Given the description of an element on the screen output the (x, y) to click on. 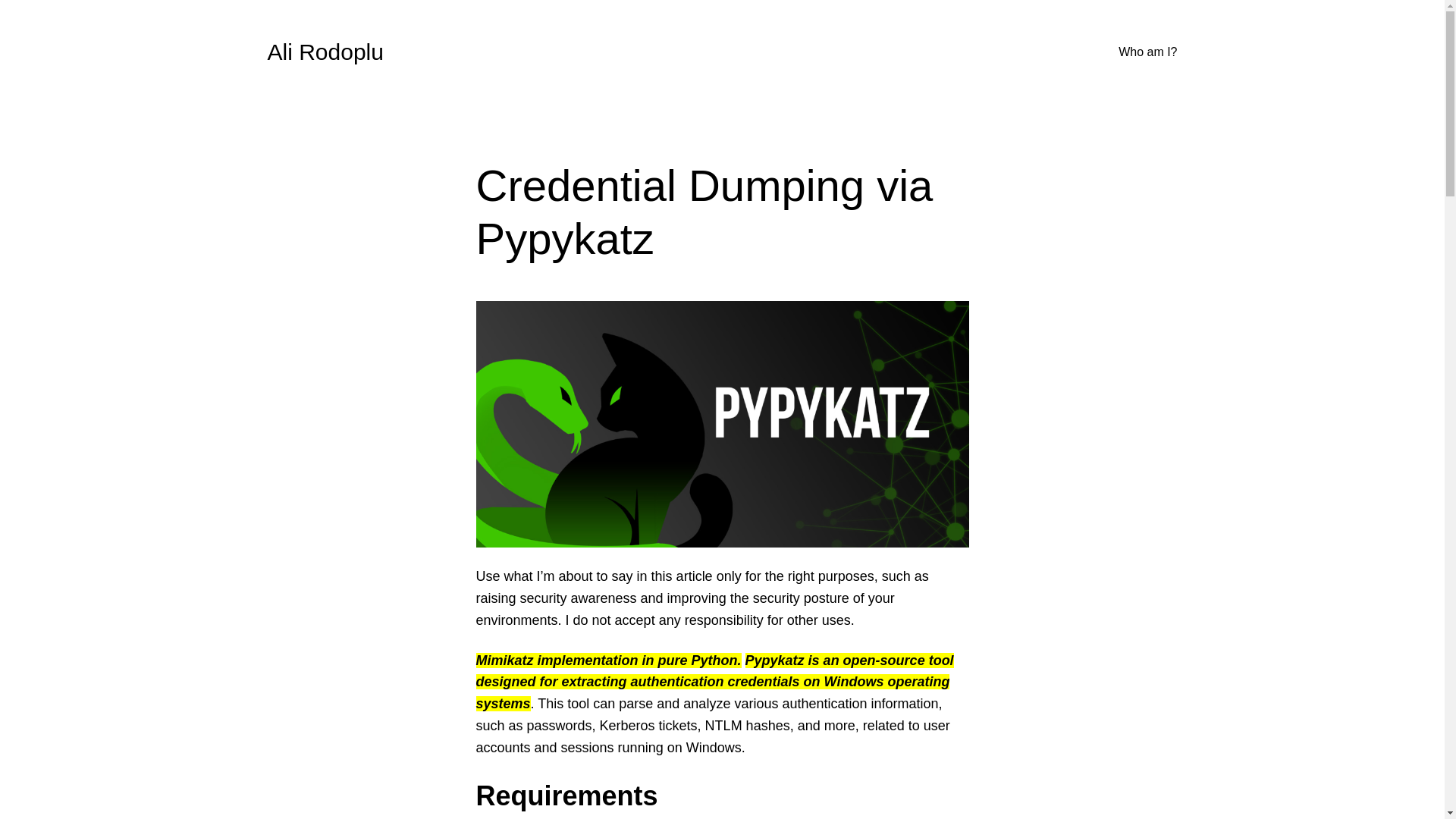
Who am I? (1147, 52)
Ali Rodoplu (324, 51)
